Given the description of an element on the screen output the (x, y) to click on. 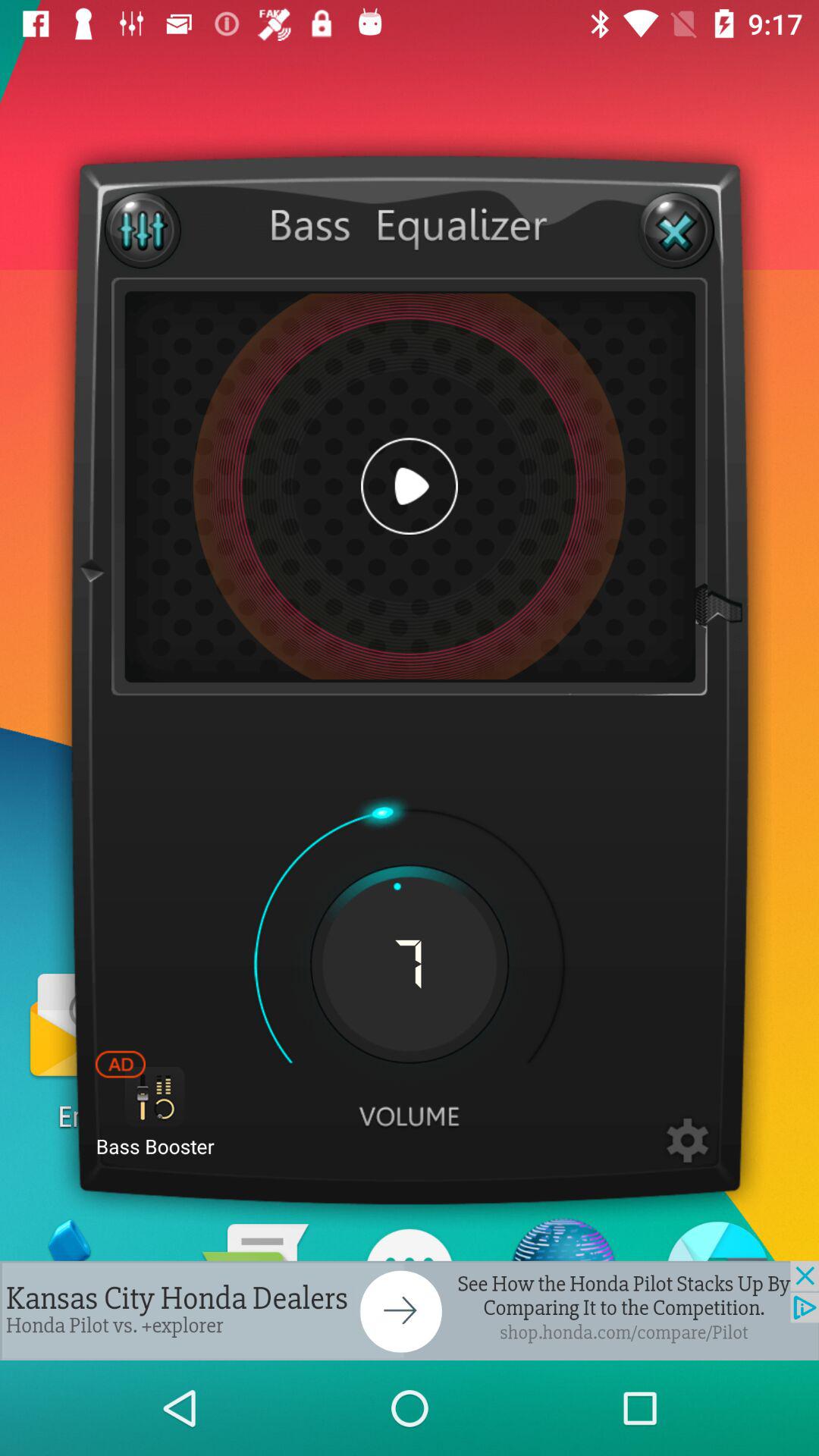
view advertisement (409, 1310)
